Given the description of an element on the screen output the (x, y) to click on. 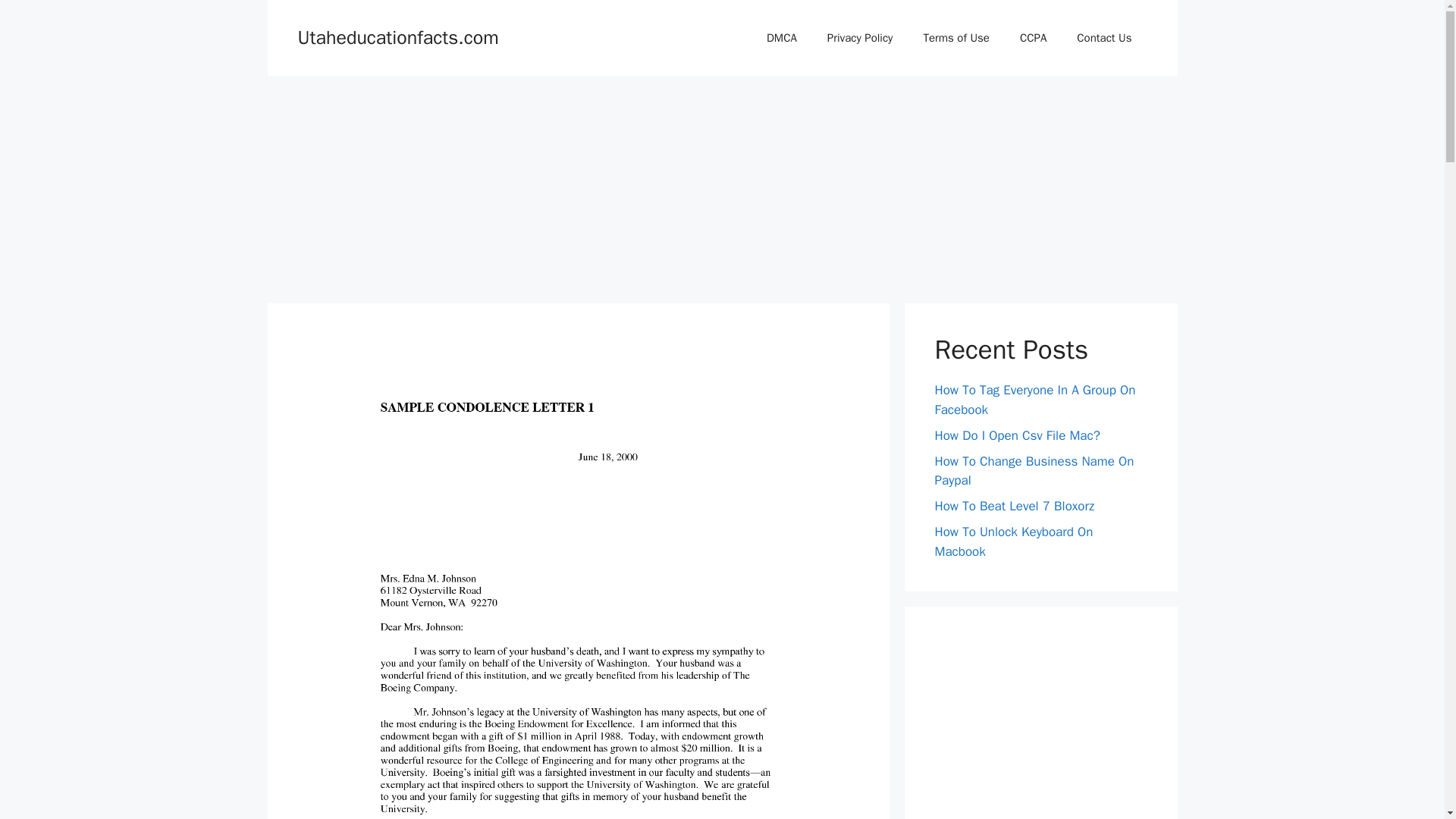
How Do I Open Csv File Mac? (1016, 435)
CCPA (1032, 37)
DMCA (781, 37)
How To Tag Everyone In A Group On Facebook (1034, 399)
How To Unlock Keyboard On Macbook (1013, 541)
Utaheducationfacts.com (397, 37)
Privacy Policy (860, 37)
Terms of Use (955, 37)
Contact Us (1104, 37)
How To Beat Level 7 Bloxorz (1014, 505)
